Given the description of an element on the screen output the (x, y) to click on. 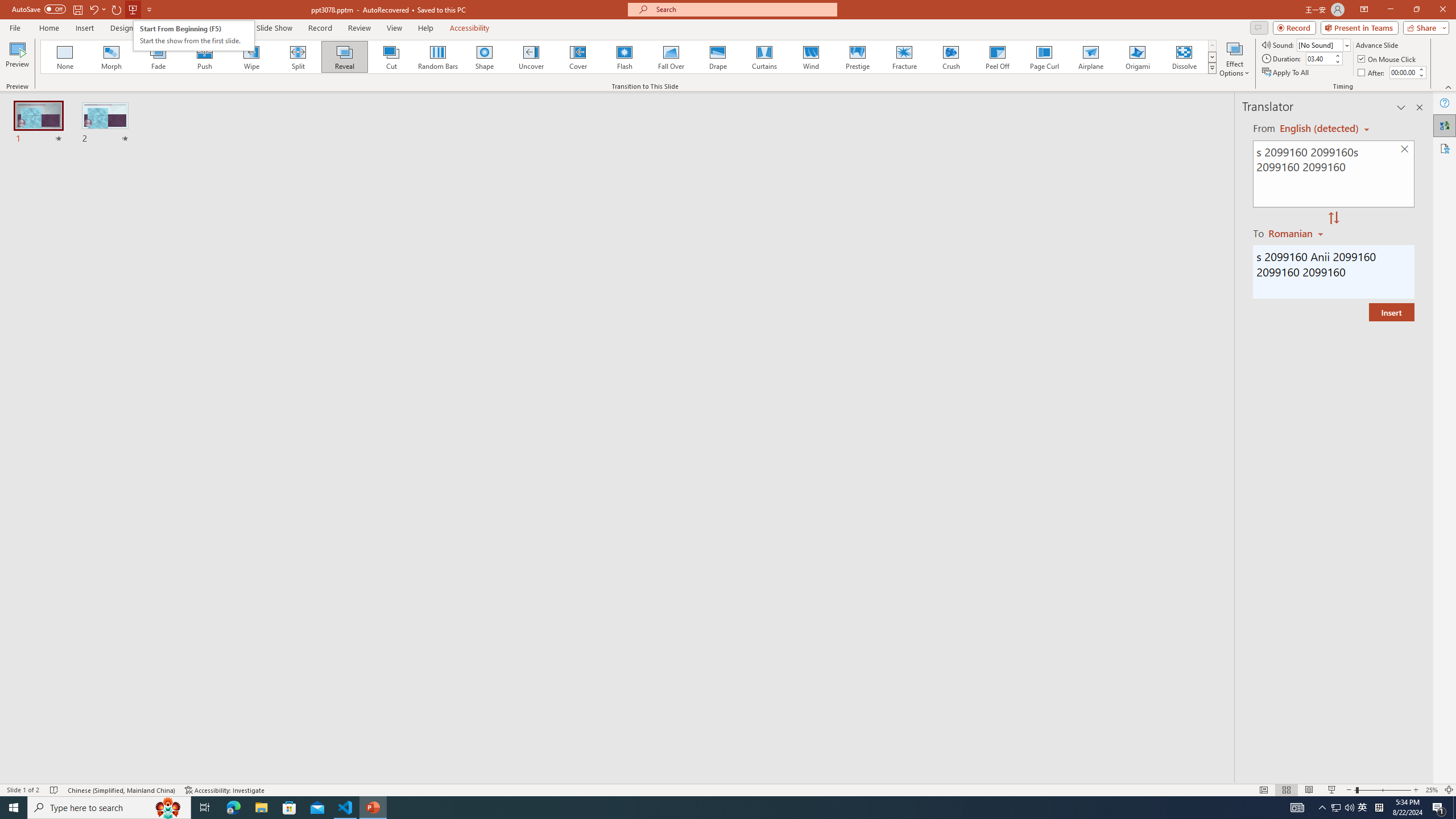
Clear text (1404, 149)
Uncover (531, 56)
Push (205, 56)
